Given the description of an element on the screen output the (x, y) to click on. 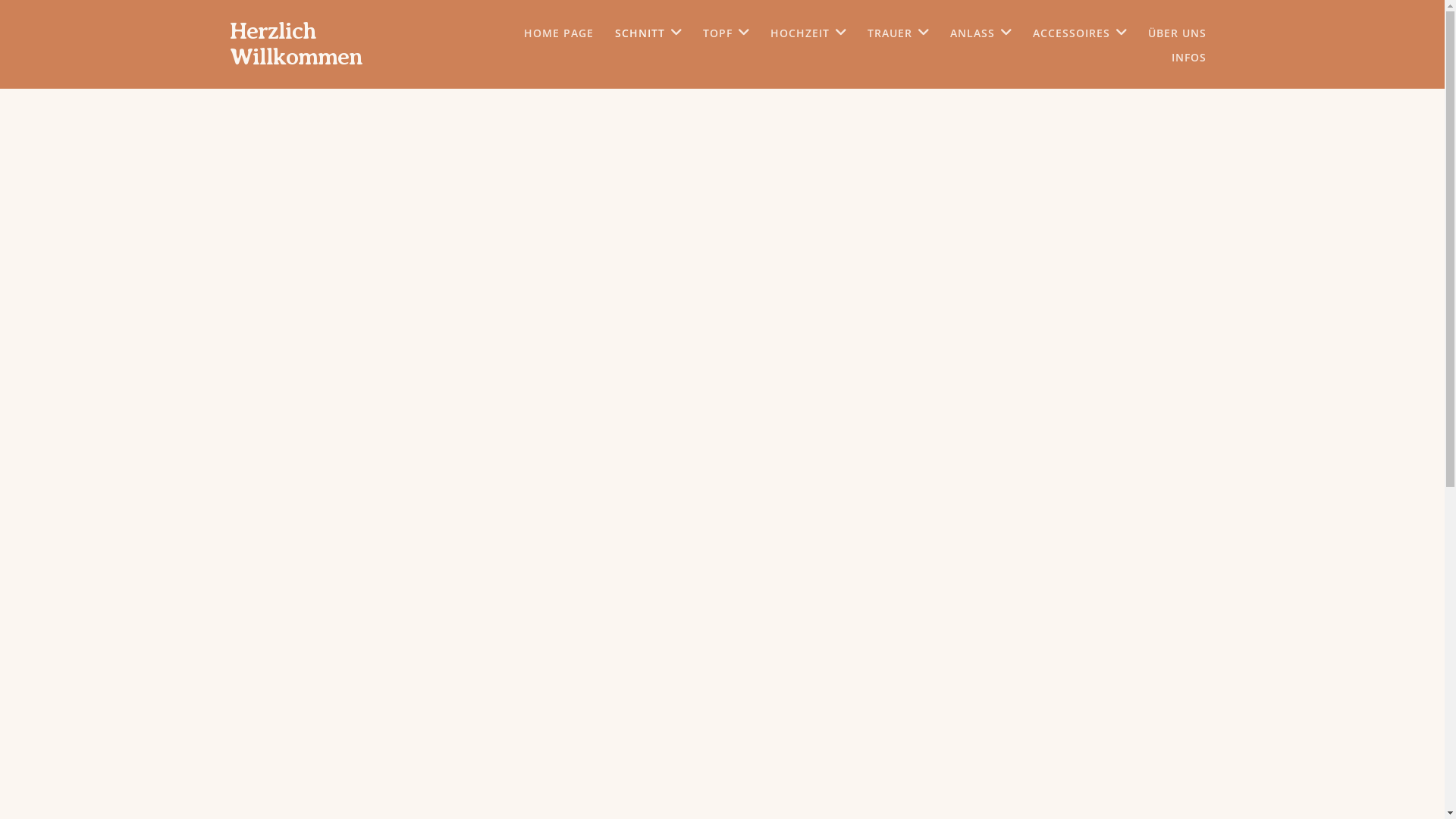
HOME PAGE Element type: text (558, 32)
Herzlich Willkommen Element type: text (295, 43)
INFOS Element type: text (1187, 57)
